Given the description of an element on the screen output the (x, y) to click on. 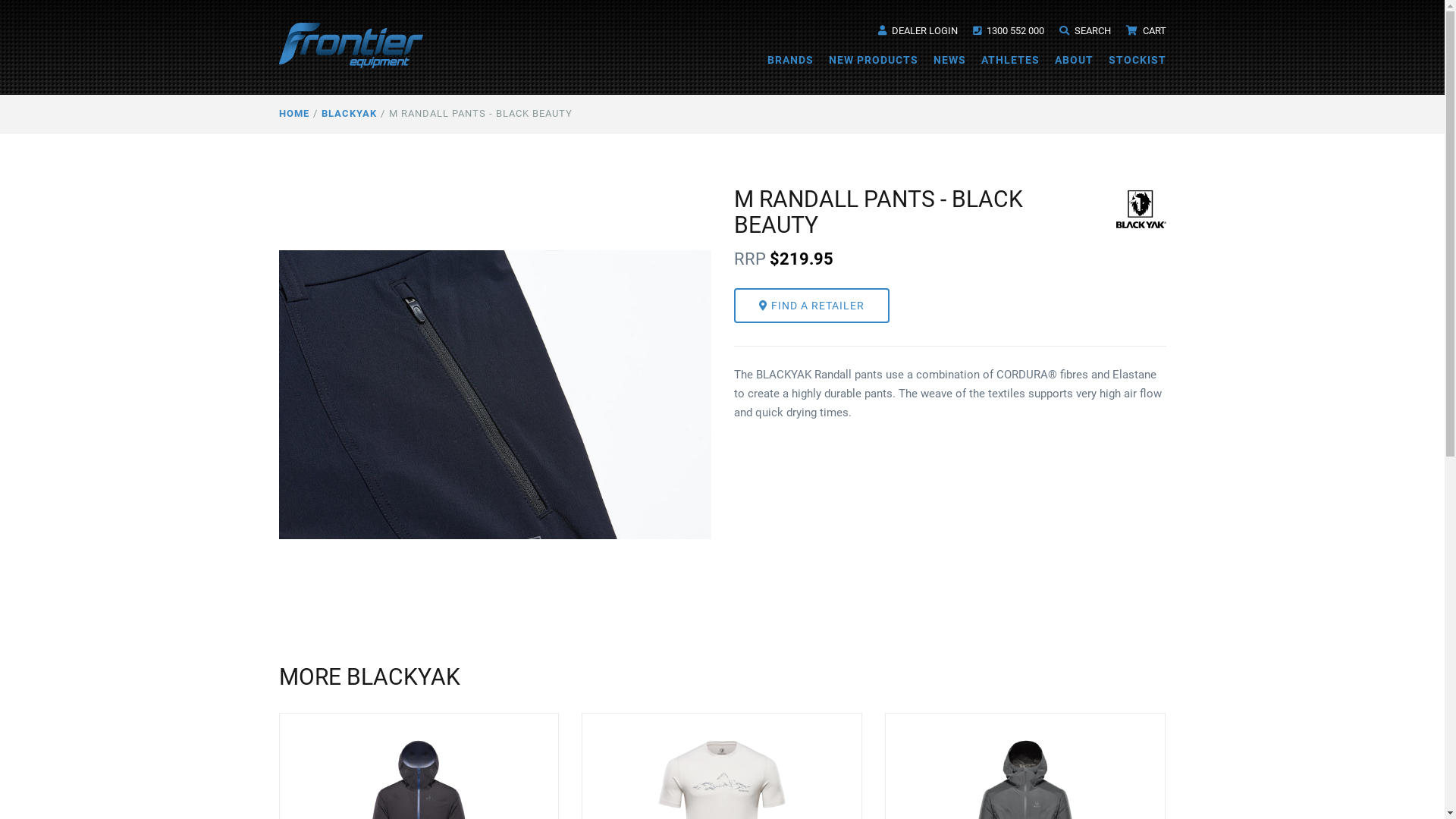
HOME Element type: text (294, 113)
STOCKIST Element type: text (1137, 59)
BRANDS Element type: text (790, 59)
ABOUT Element type: text (1073, 59)
NEW PRODUCTS Element type: text (872, 59)
NEWS Element type: text (948, 59)
ATHLETES Element type: text (1010, 59)
BLACKYAK Element type: text (348, 113)
CART Element type: text (1145, 30)
SEARCH Element type: text (1084, 30)
1300 552 000 Element type: text (1007, 30)
FIND A RETAILER Element type: text (811, 305)
DEALER LOGIN Element type: text (917, 30)
